Given the description of an element on the screen output the (x, y) to click on. 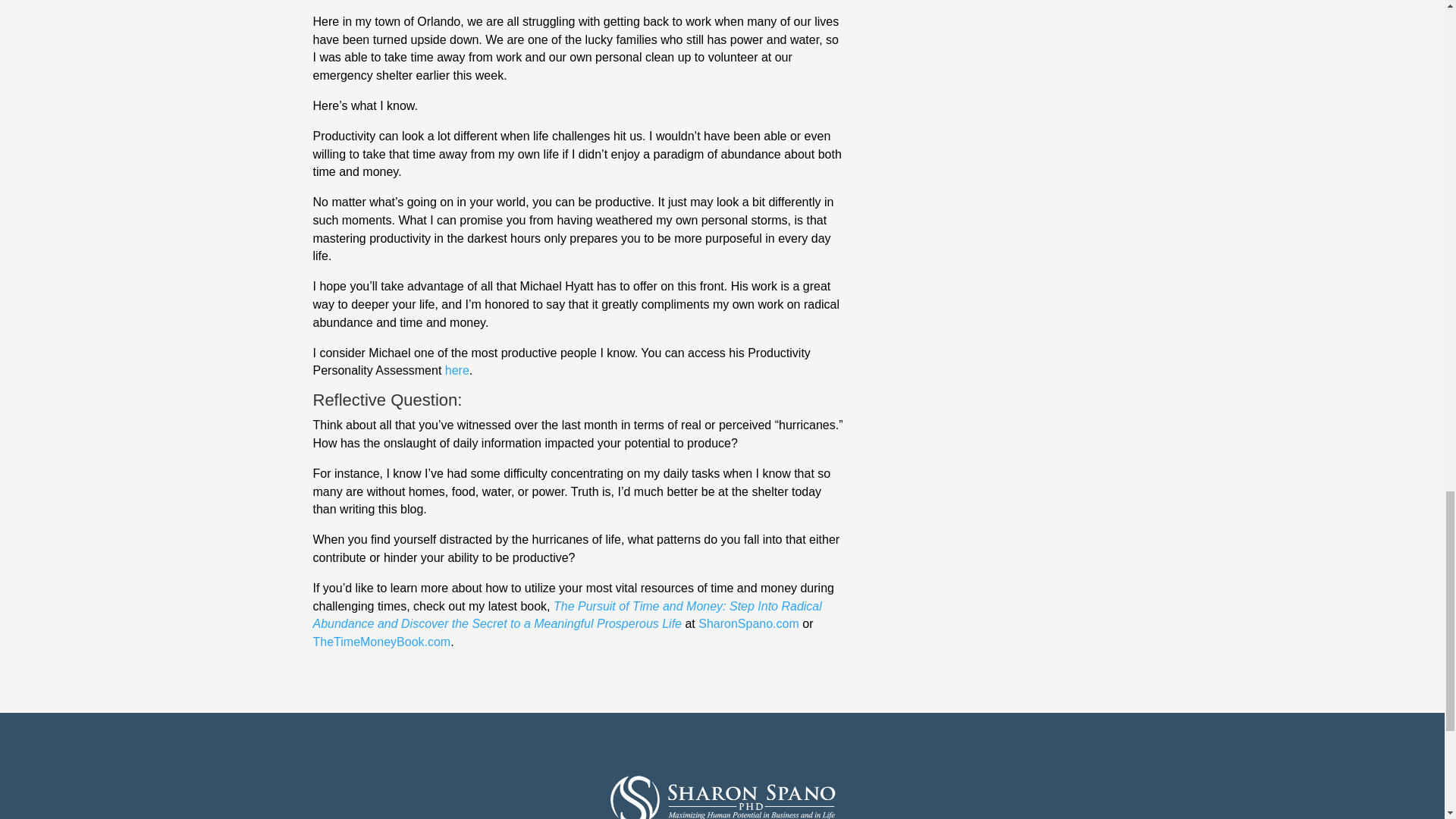
here (456, 369)
Spano Logo (721, 796)
TheTimeMoneyBook.com (381, 641)
SharonSpano.com (748, 623)
